Given the description of an element on the screen output the (x, y) to click on. 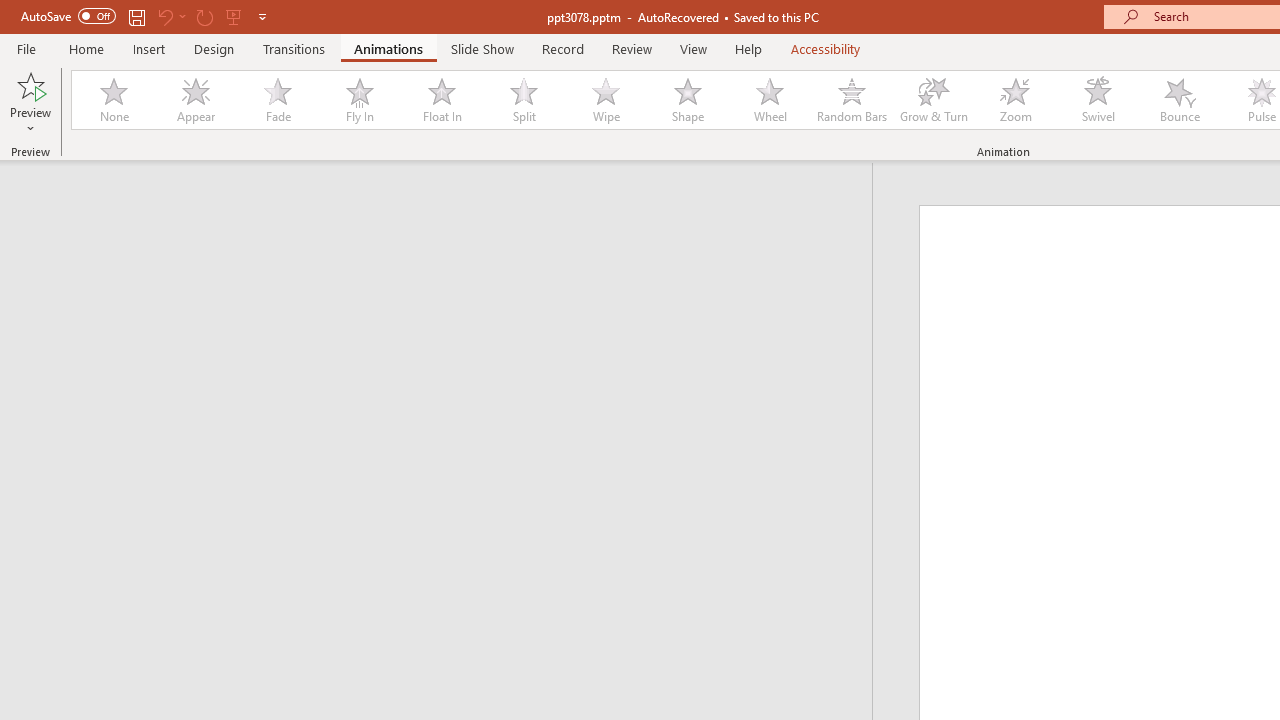
Appear (195, 100)
Grow & Turn (934, 100)
